Given the description of an element on the screen output the (x, y) to click on. 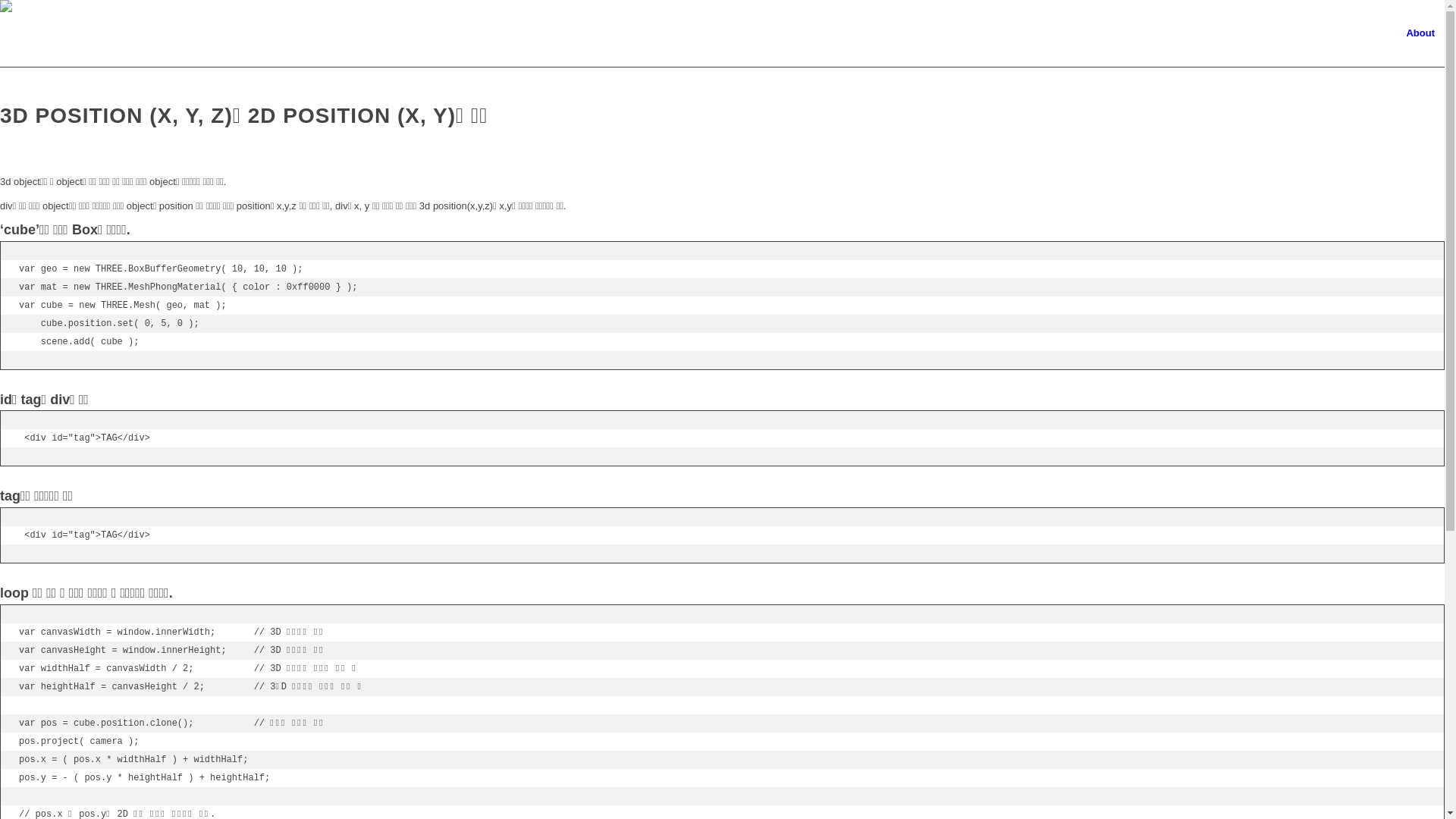
About Element type: text (1420, 33)
